Given the description of an element on the screen output the (x, y) to click on. 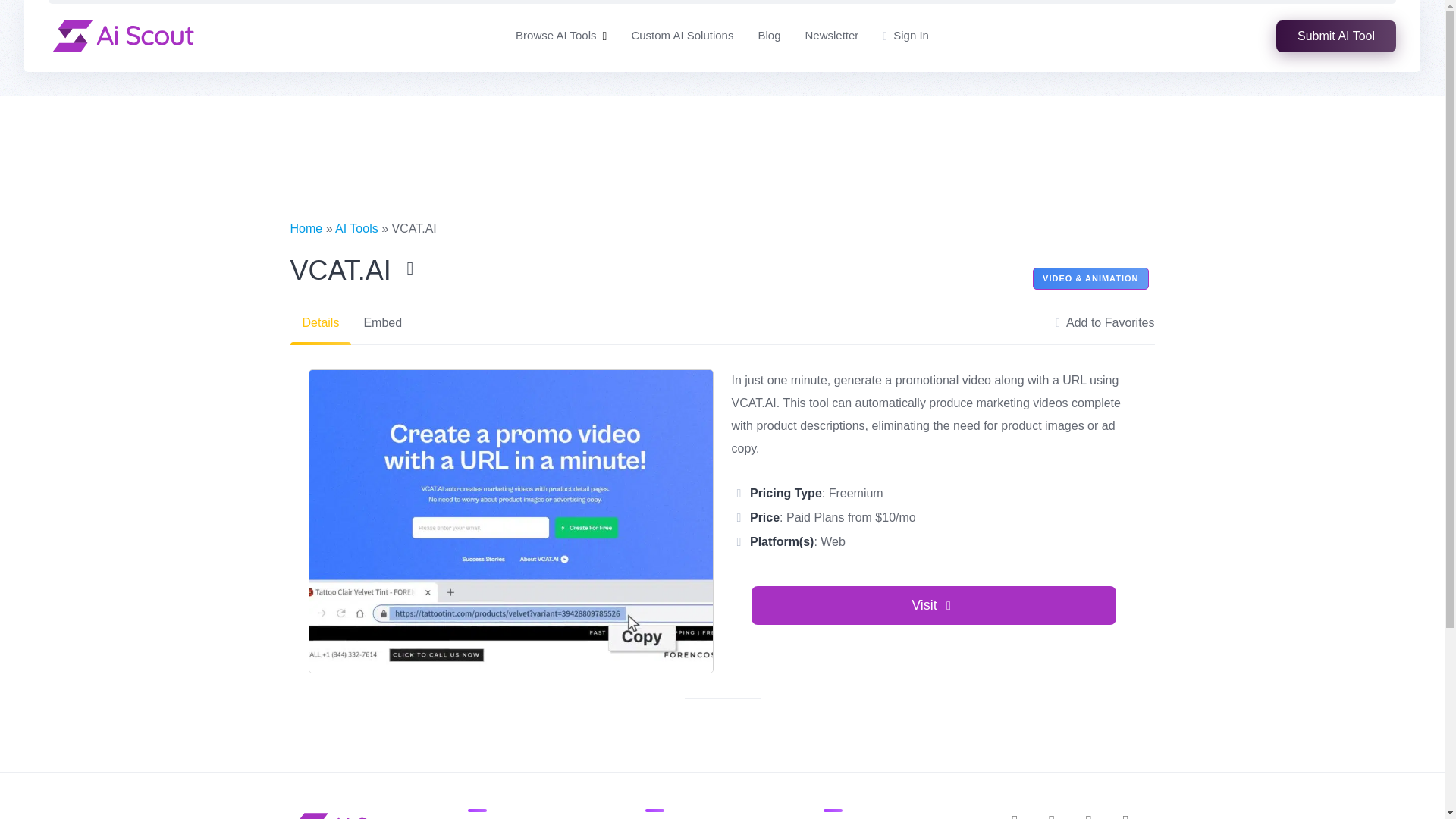
Browse AI Tools (555, 36)
Details (320, 322)
Custom AI Solutions (681, 36)
Visit (933, 605)
Sign In (905, 36)
Blog (768, 36)
AI Tools (356, 228)
Embed (381, 322)
Home (305, 228)
Add to Favorites (1104, 322)
